Given the description of an element on the screen output the (x, y) to click on. 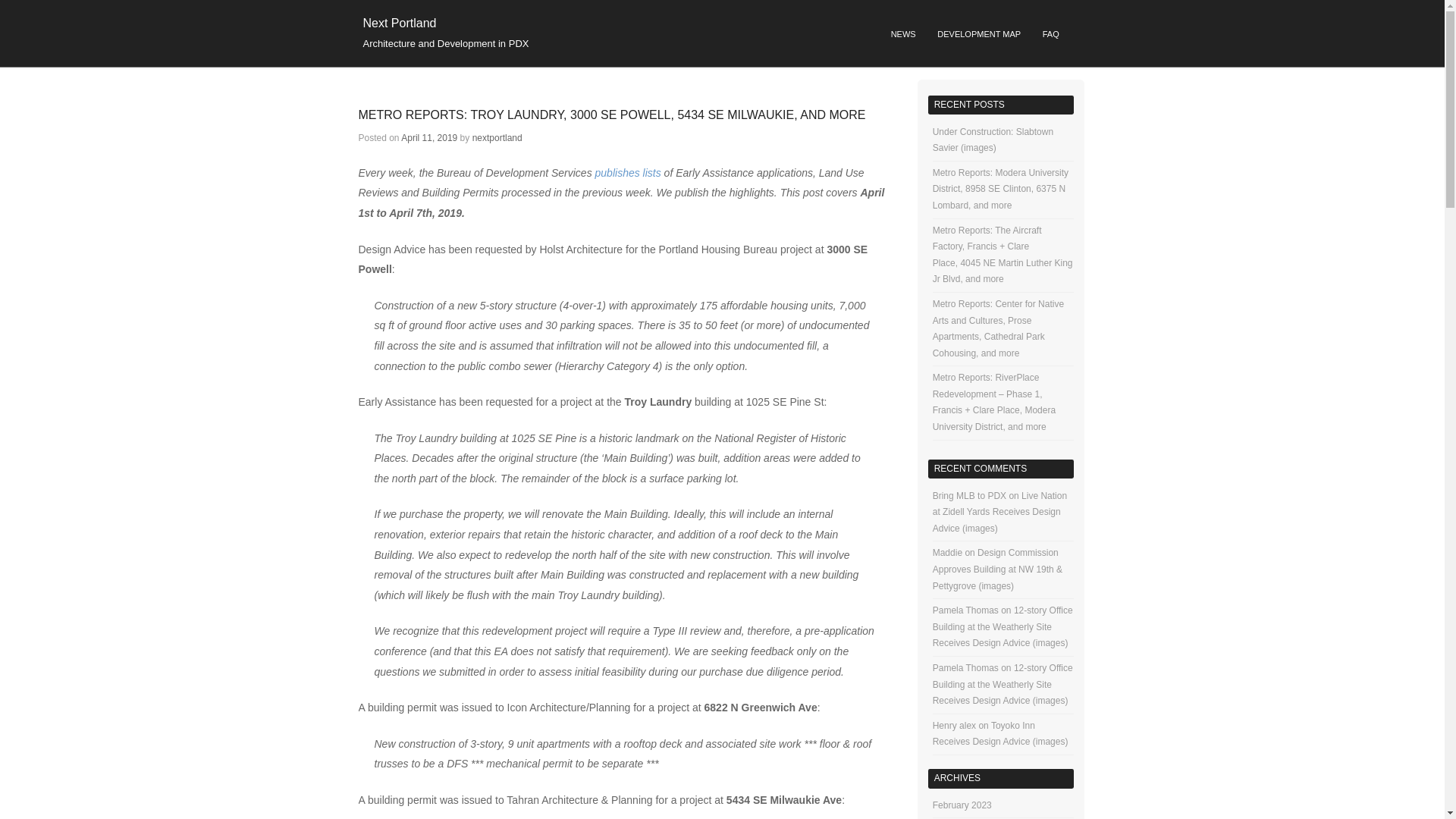
Skip to content (620, 28)
DEVELOPMENT MAP (978, 34)
12:48 pm (429, 137)
Next Portland (398, 22)
SKIP TO CONTENT (620, 28)
Next Portland (398, 22)
FAQ (1050, 34)
April 11, 2019 (429, 137)
